Given the description of an element on the screen output the (x, y) to click on. 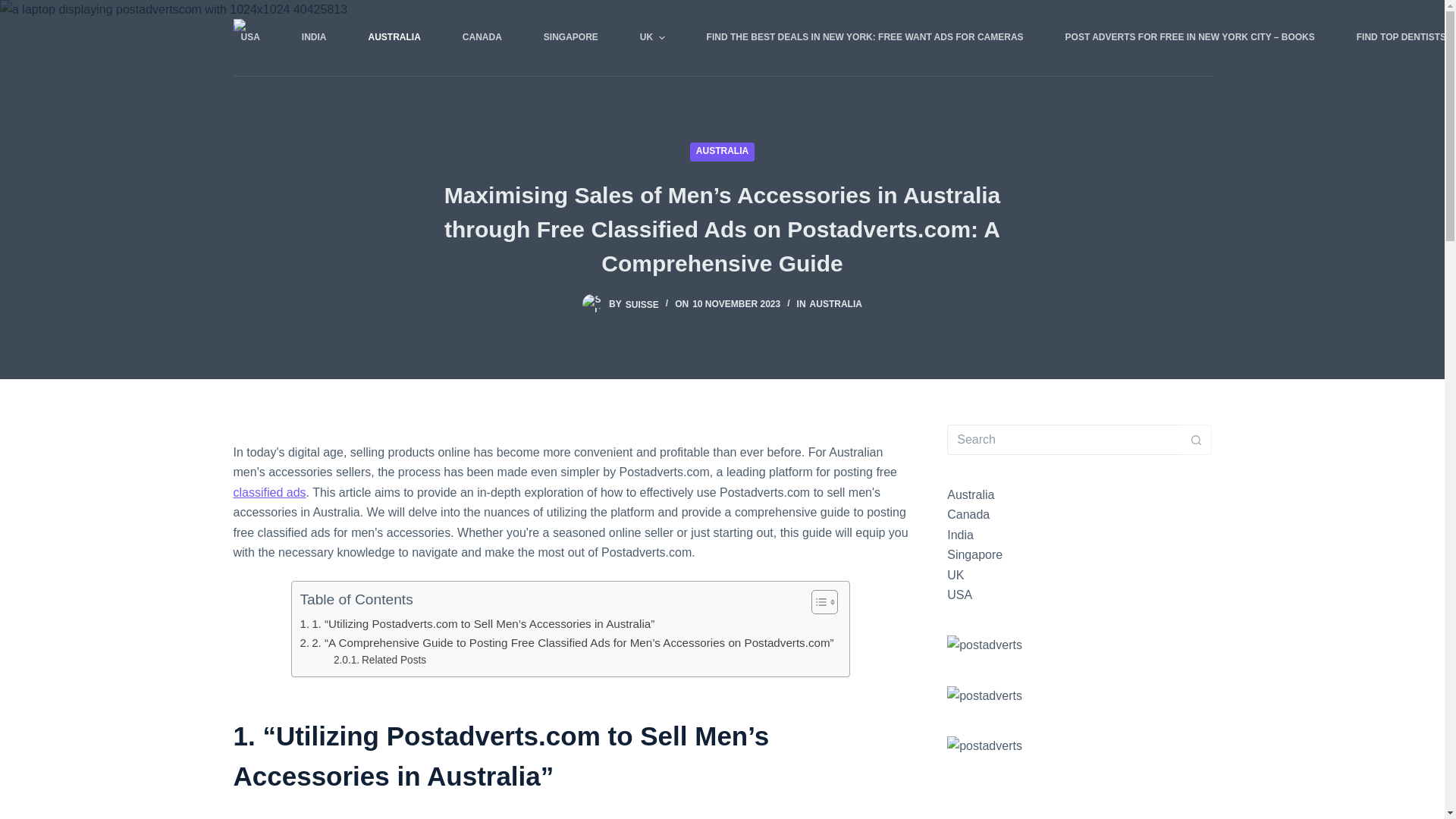
SINGAPORE (570, 38)
CANADA (481, 38)
Skip to content (15, 7)
Posts by suisse (642, 303)
Related Posts (379, 660)
FIND THE BEST DEALS IN NEW YORK: FREE WANT ADS FOR CAMERAS (864, 38)
Posts tagged with Classified Ads (268, 492)
AUSTRALIA (394, 38)
